Given the description of an element on the screen output the (x, y) to click on. 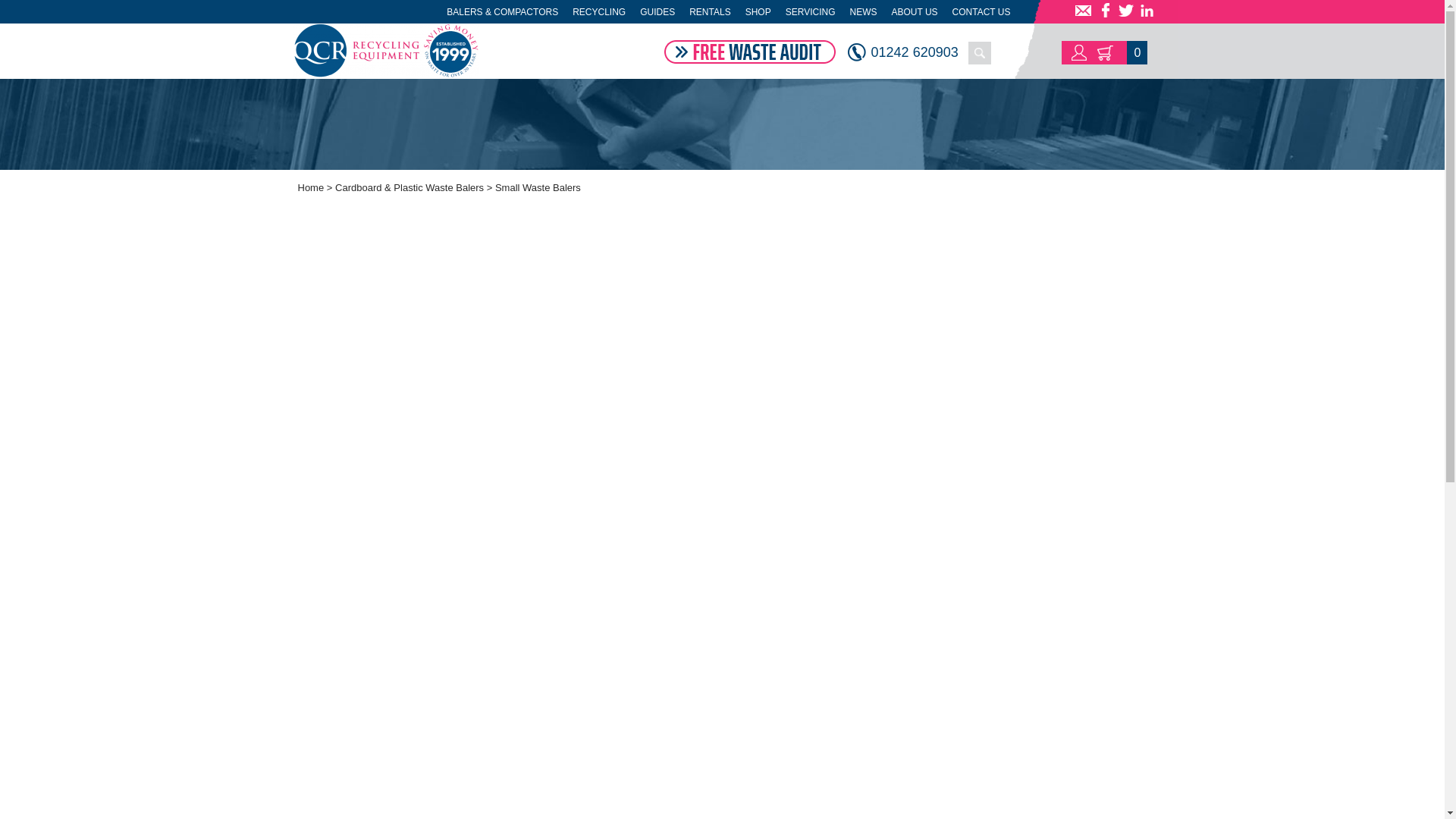
SHOP (758, 11)
ABOUT US (913, 11)
RECYCLING (599, 11)
RENTALS (710, 11)
GUIDES (657, 11)
SERVICING (810, 11)
NEWS (863, 11)
